Given the description of an element on the screen output the (x, y) to click on. 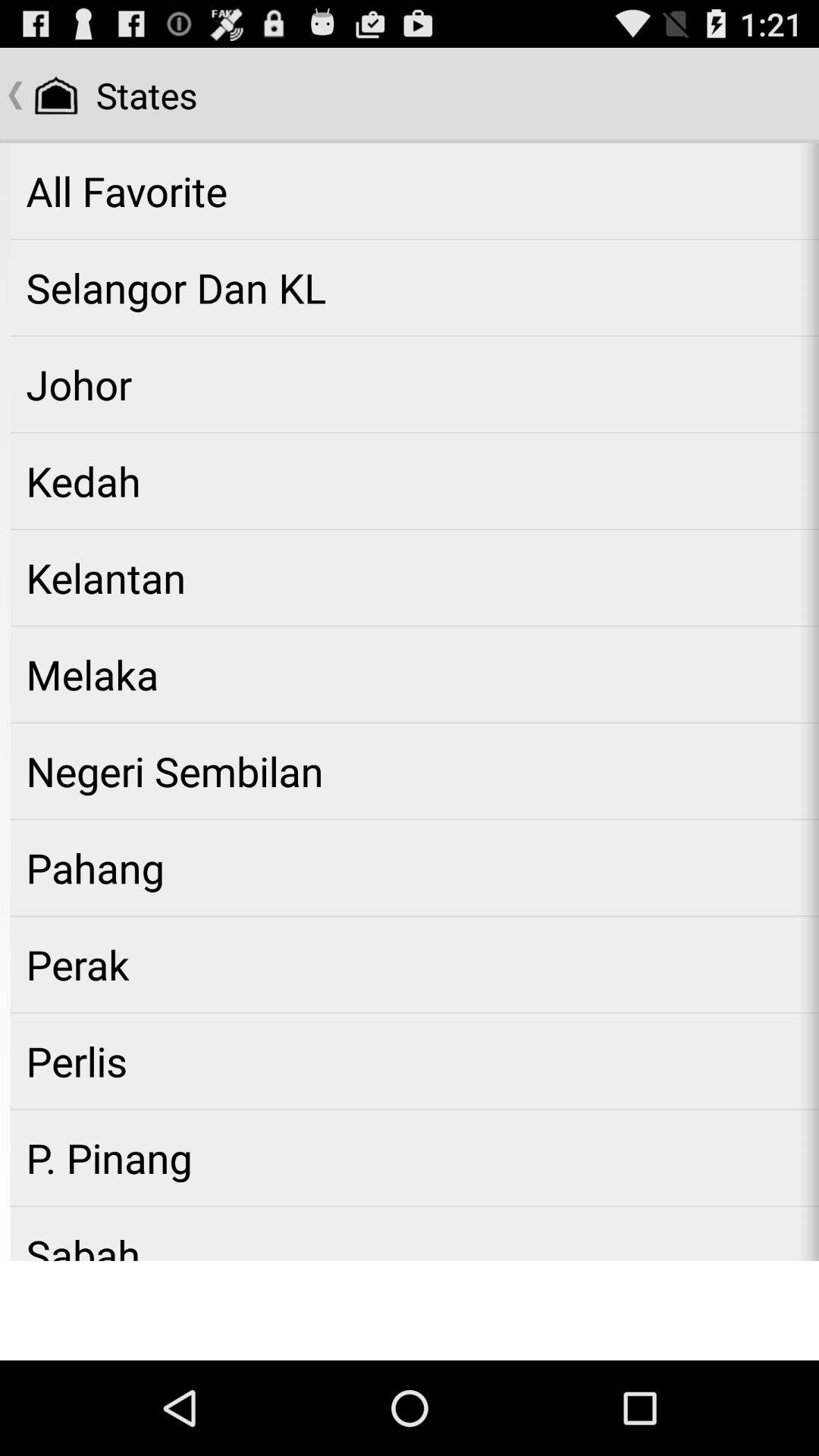
press the app above the selangor dan kl icon (414, 190)
